Given the description of an element on the screen output the (x, y) to click on. 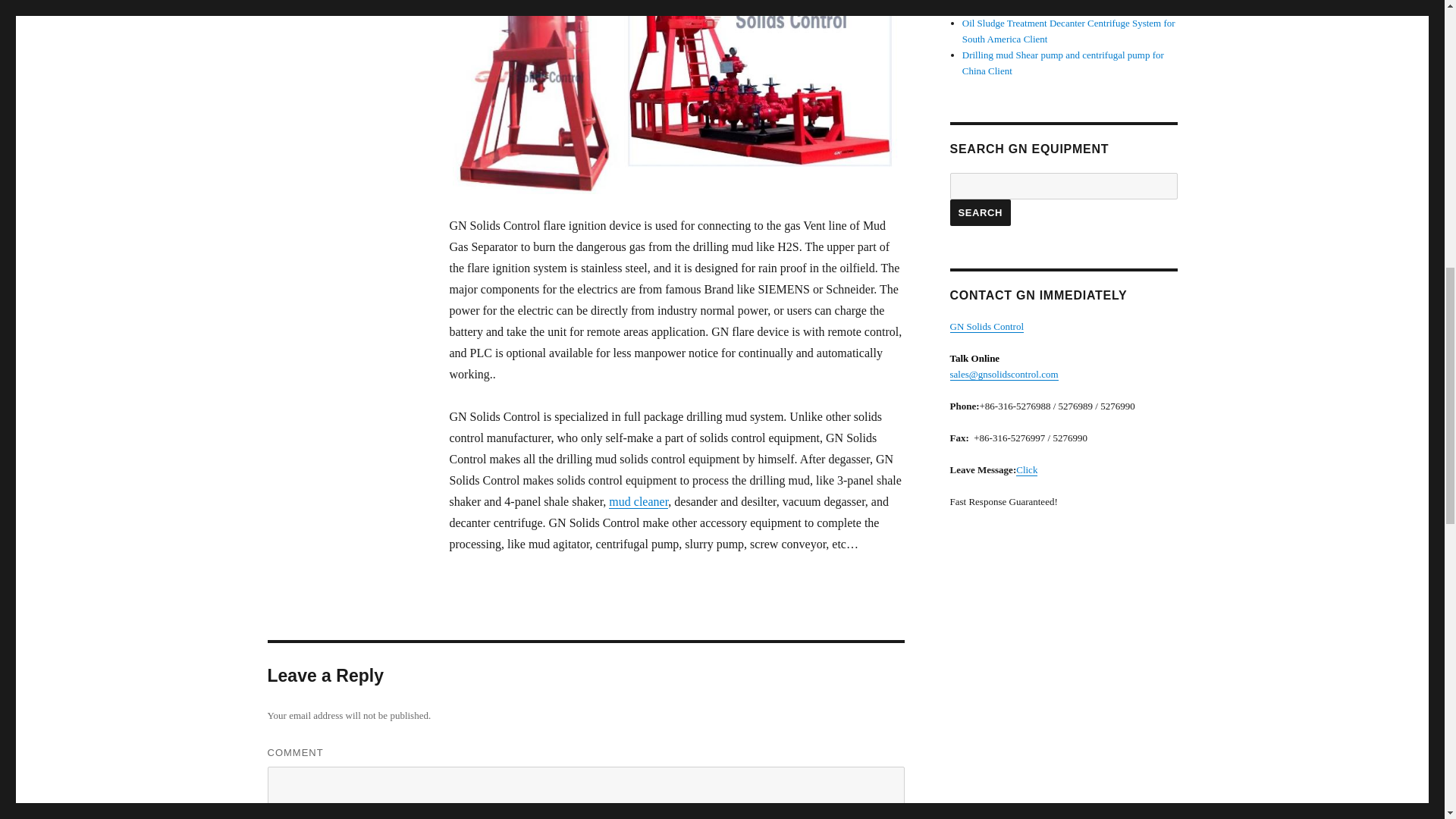
mud cleaner (638, 501)
Mail To (1003, 374)
Search (979, 212)
Search (979, 212)
Contact (986, 326)
Click (1026, 469)
Contact (1026, 469)
GN Solids Control (986, 326)
